Given the description of an element on the screen output the (x, y) to click on. 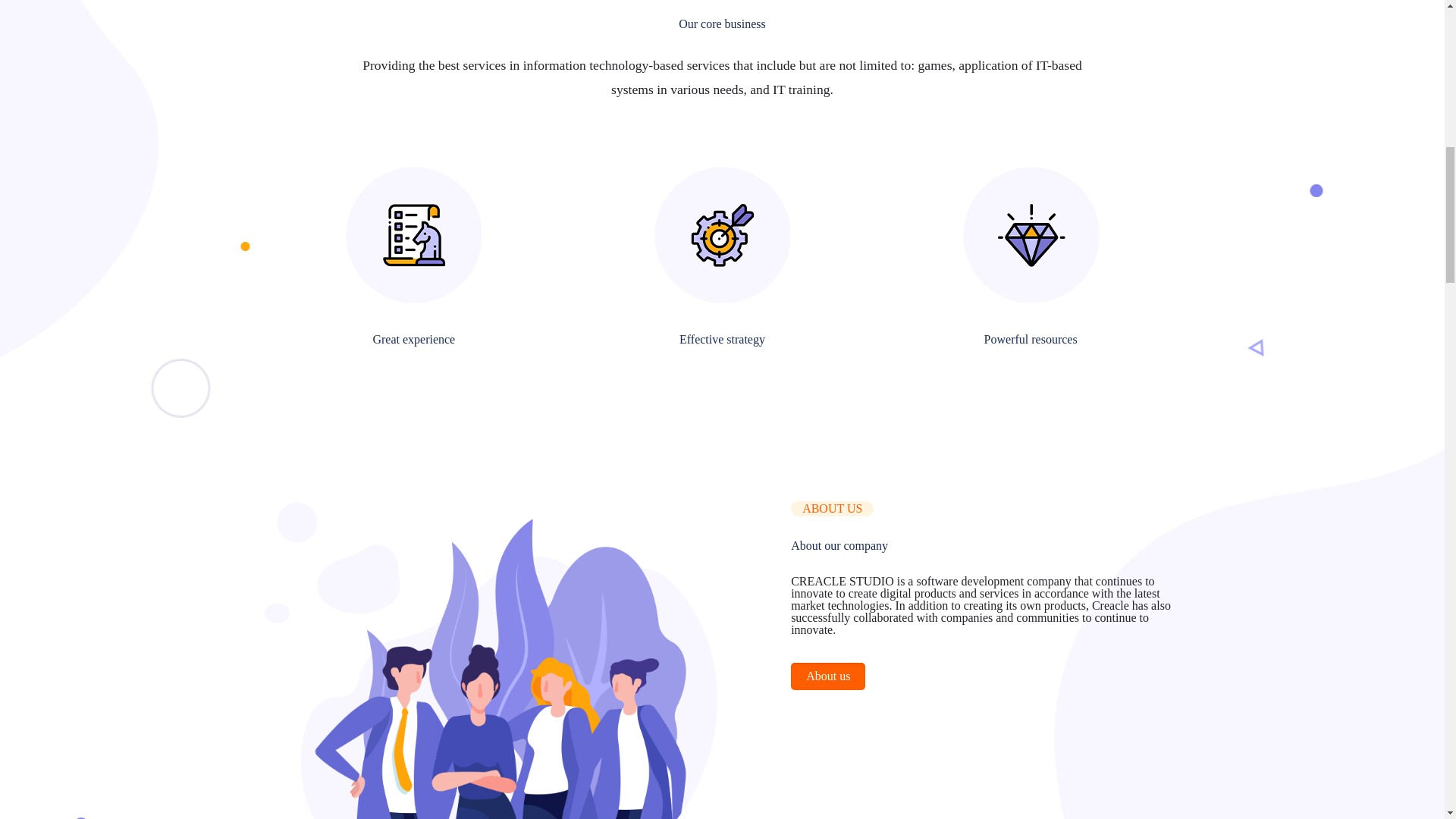
About us (827, 676)
